Given the description of an element on the screen output the (x, y) to click on. 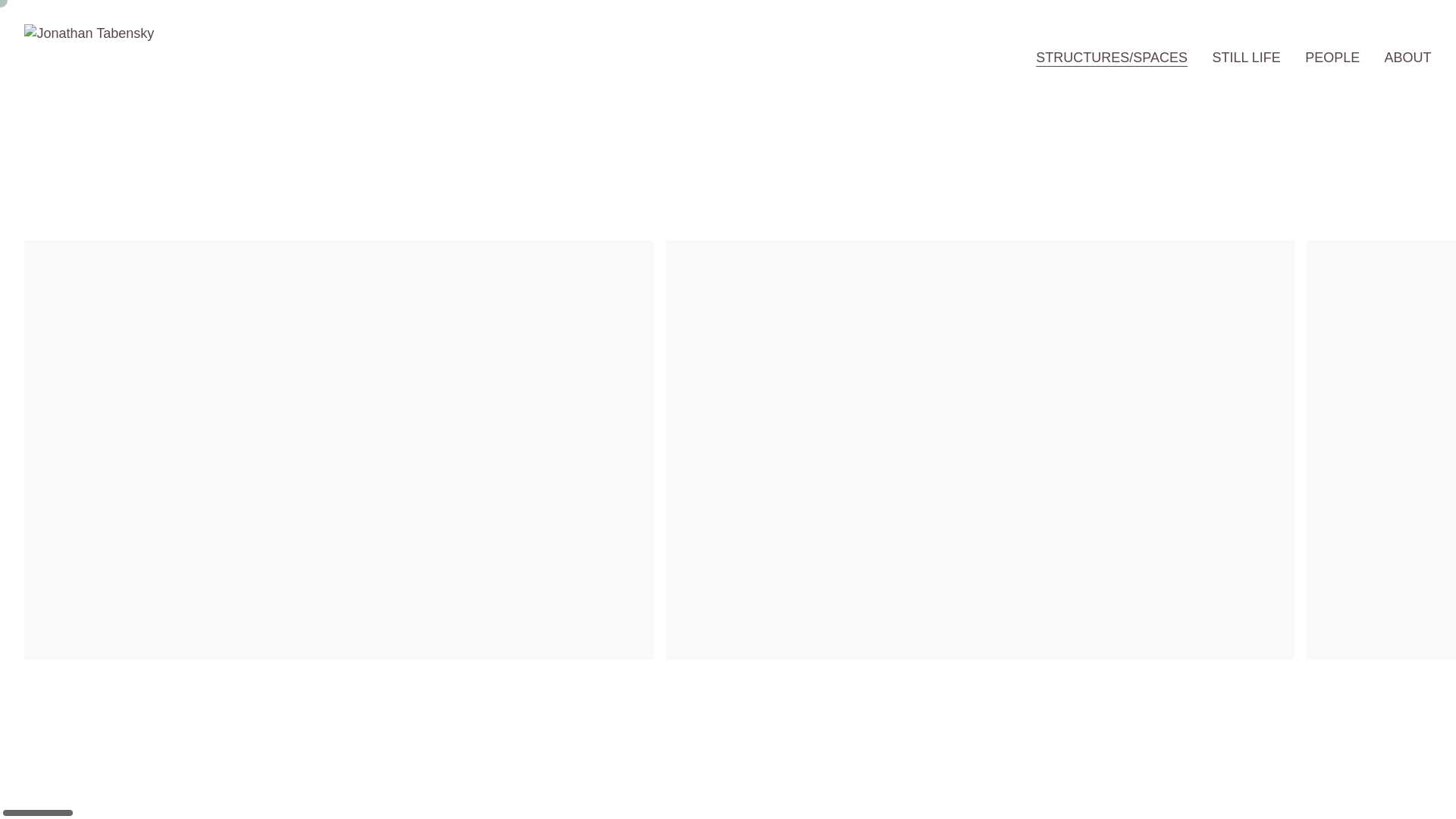
STILL LIFE Element type: text (1245, 57)
PEOPLE Element type: text (1332, 57)
STRUCTURES/SPACES Element type: text (1111, 57)
ABOUT Element type: text (1407, 57)
